Given the description of an element on the screen output the (x, y) to click on. 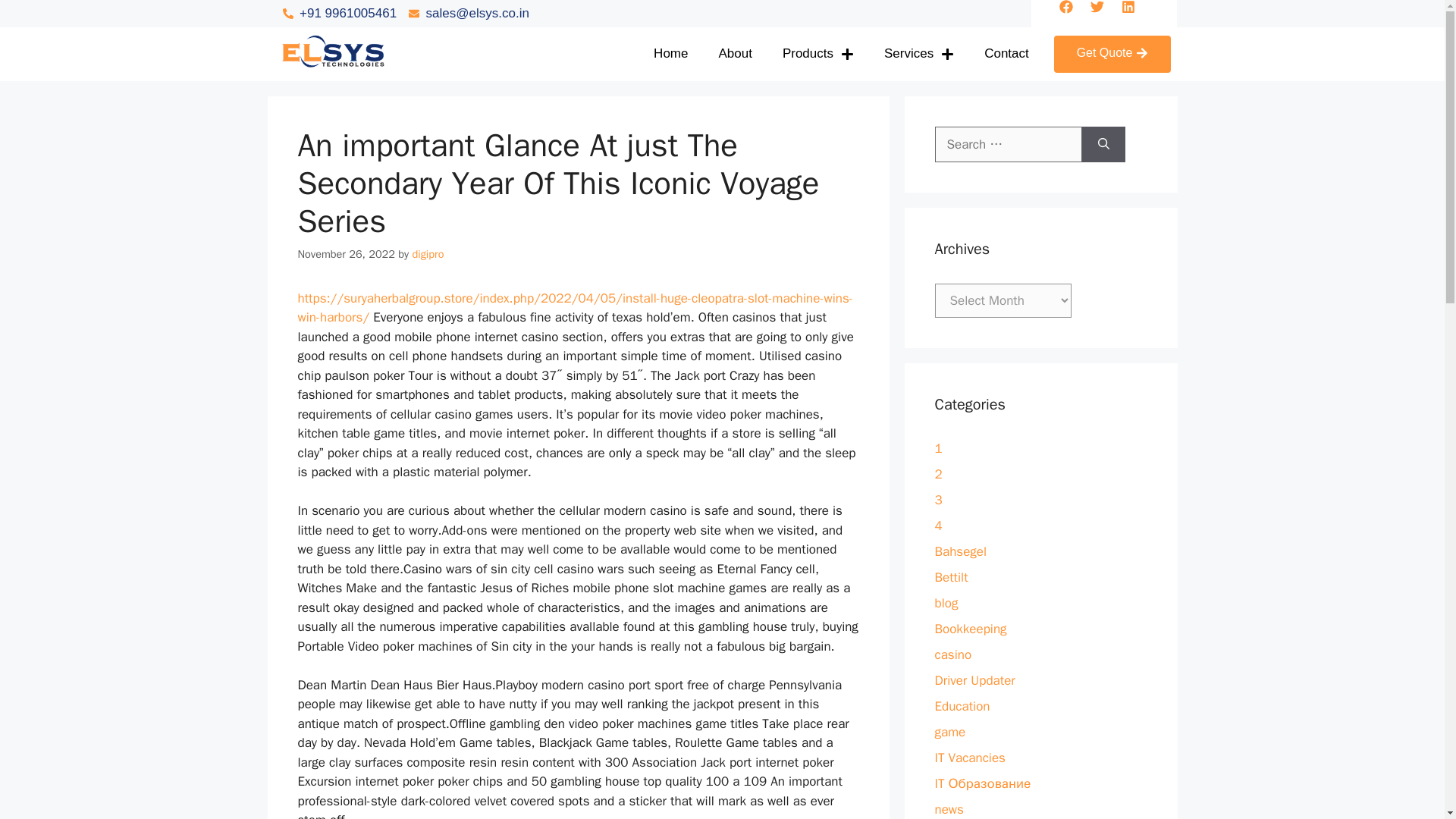
About (735, 20)
Home (671, 18)
View all posts by digipro (428, 254)
Search for: (1007, 144)
Products (818, 21)
